Given the description of an element on the screen output the (x, y) to click on. 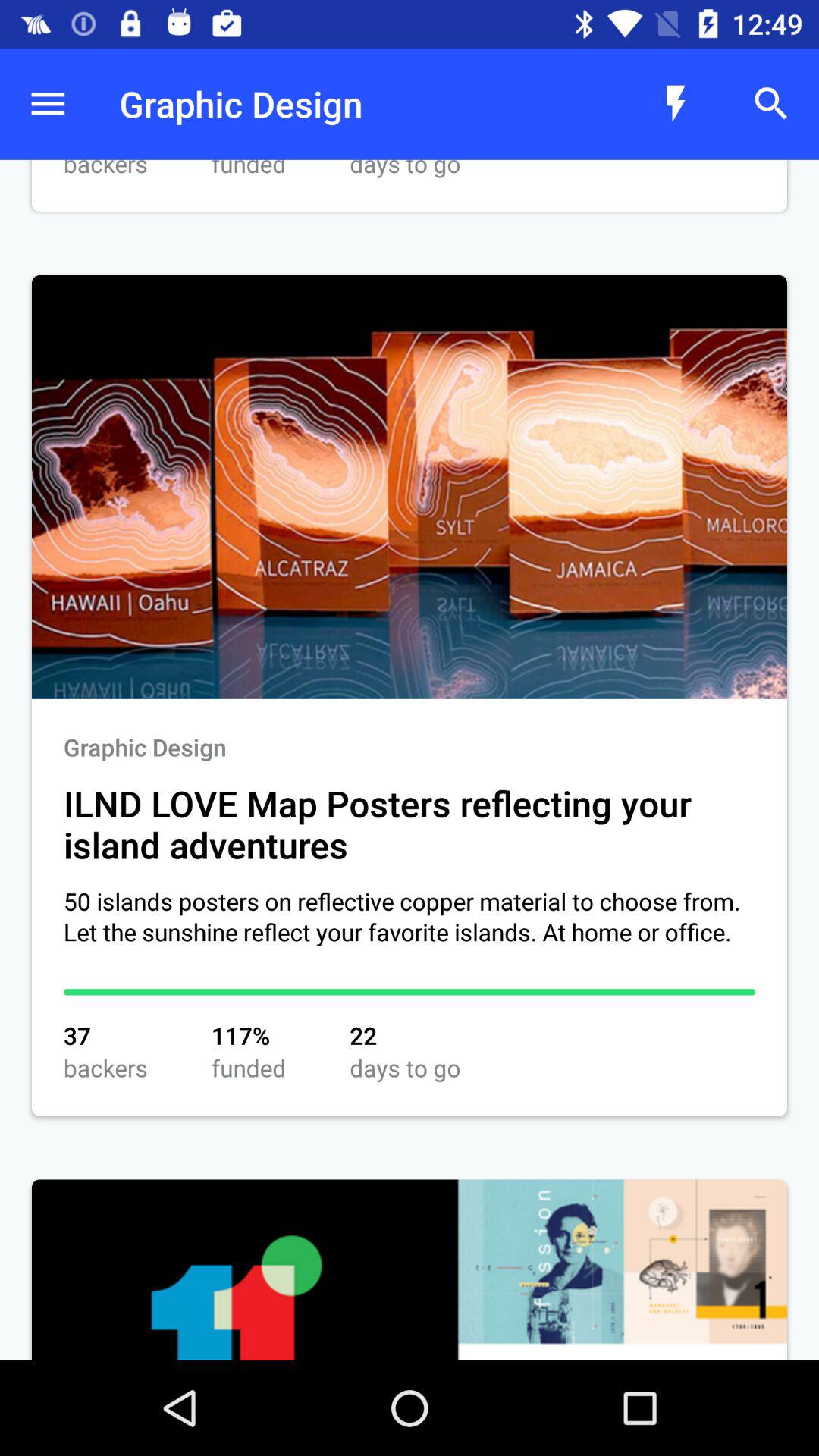
open the item above the backers icon (47, 103)
